Given the description of an element on the screen output the (x, y) to click on. 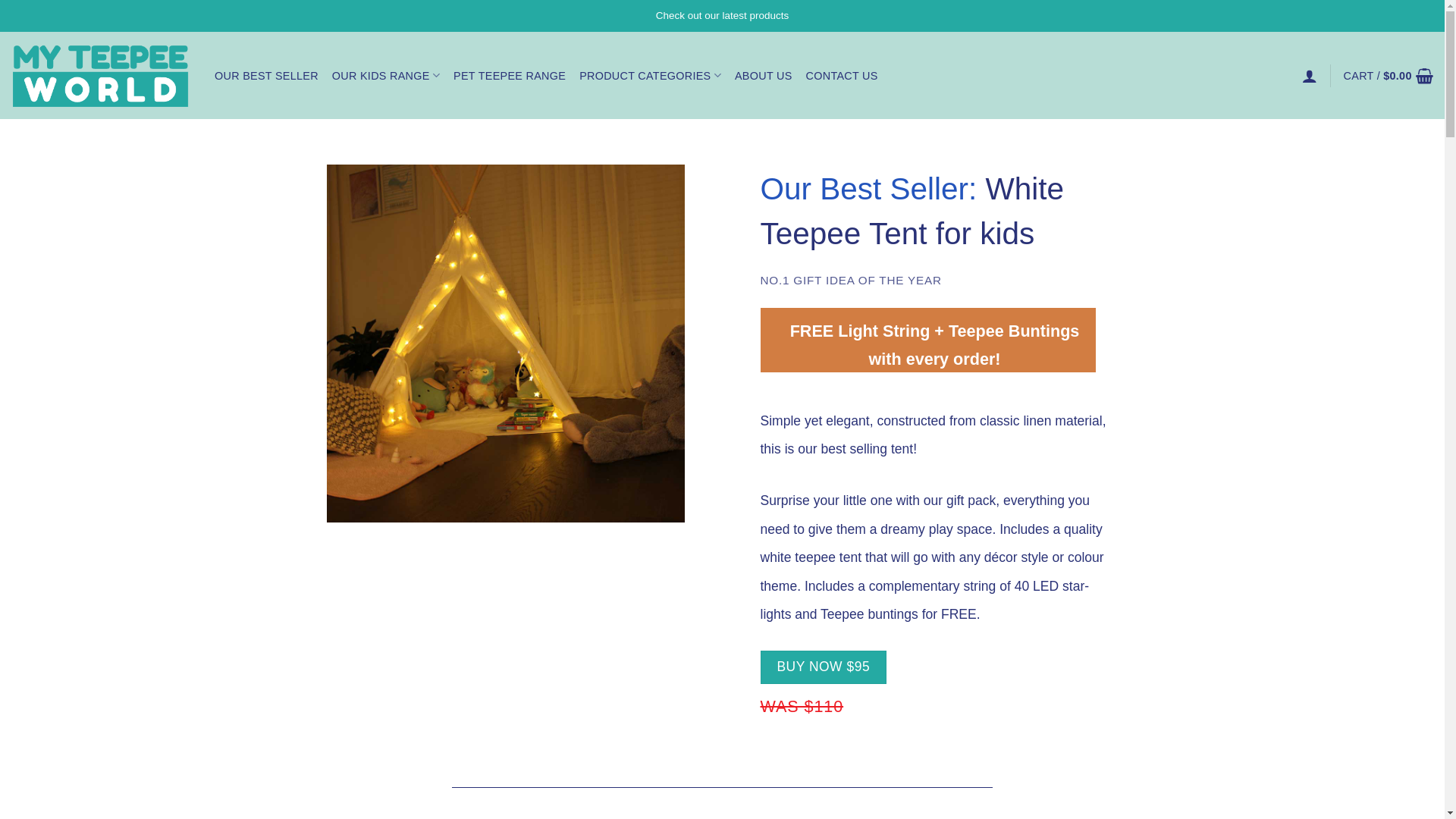
Skip to content Element type: text (0, 0)
CONTACT US Element type: text (842, 75)
ABOUT US Element type: text (763, 75)
OUR KIDS RANGE Element type: text (385, 75)
BUY NOW $95 Element type: text (822, 667)
OUR BEST SELLER Element type: text (266, 75)
My Teepee World Element type: hover (101, 75)
PRODUCT CATEGORIES Element type: text (650, 75)
PET TEEPEE RANGE Element type: text (509, 75)
CART / $0.00 Element type: text (1388, 75)
